Given the description of an element on the screen output the (x, y) to click on. 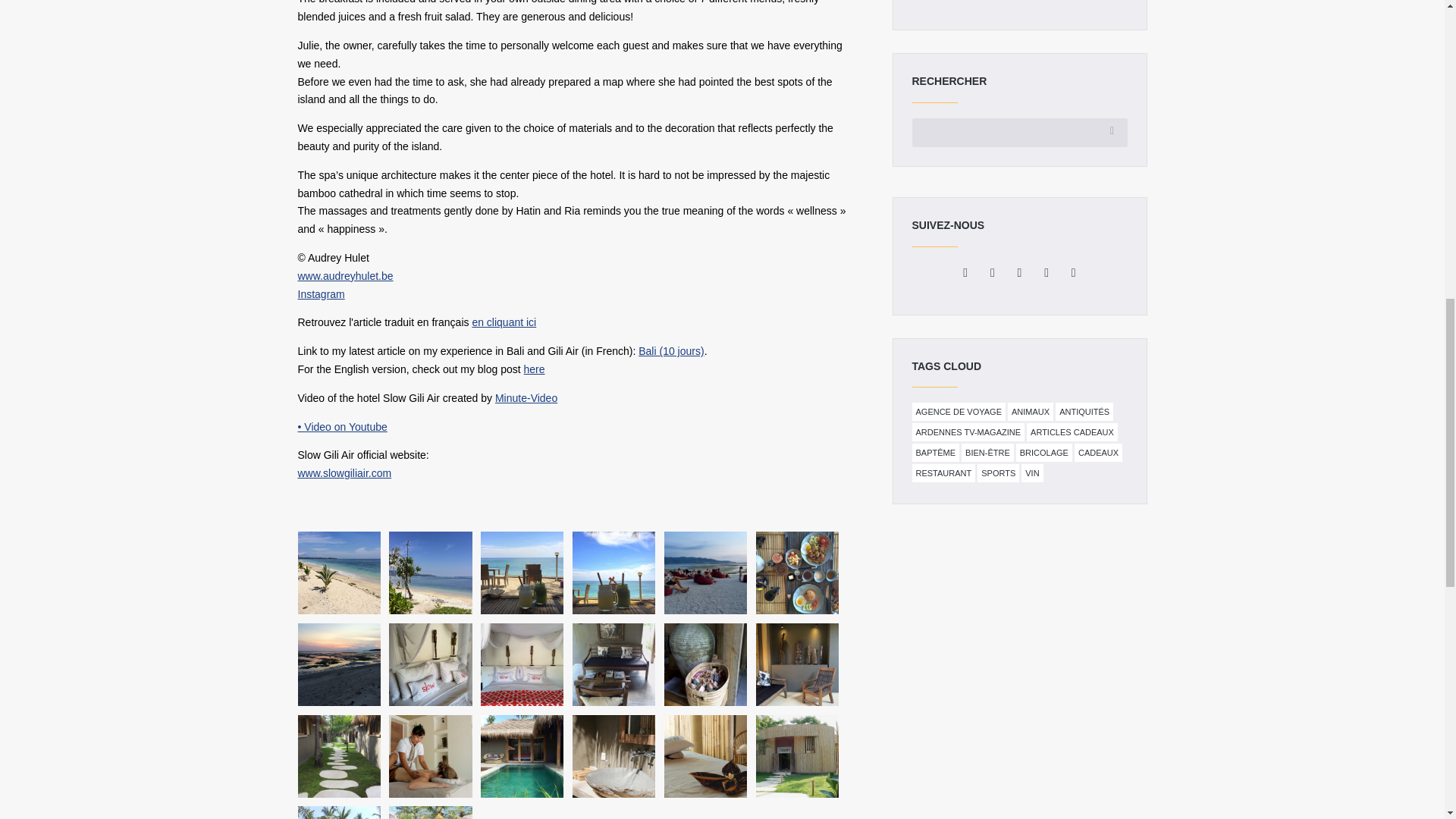
Minute-Video (526, 398)
Gili Air (429, 572)
Gili Air (338, 572)
en cliquant ici (503, 322)
Instagram (320, 294)
www.slowgiliair.com (344, 472)
here (534, 369)
Gili Air (613, 572)
Gili Air (521, 572)
www.audreyhulet.be (345, 275)
